Given the description of an element on the screen output the (x, y) to click on. 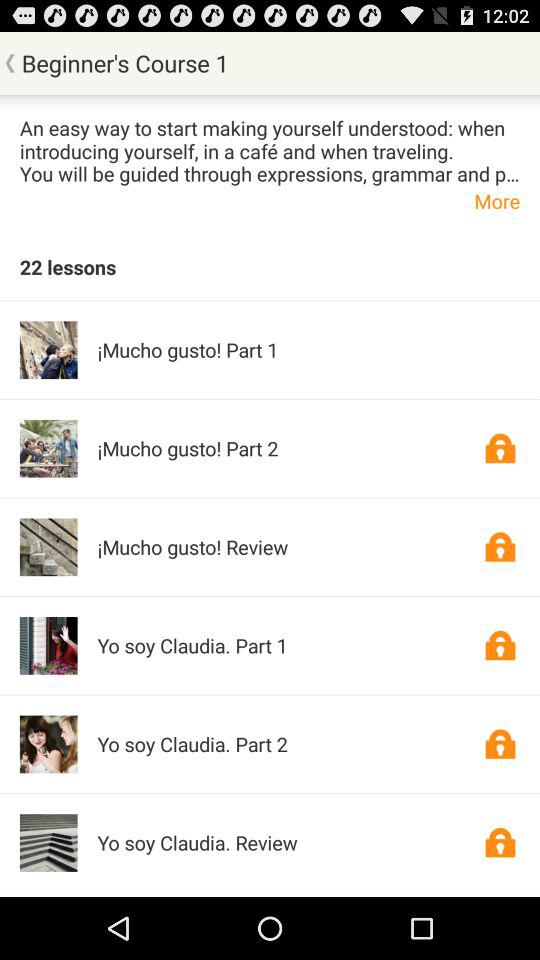
lesson locked (500, 842)
